Given the description of an element on the screen output the (x, y) to click on. 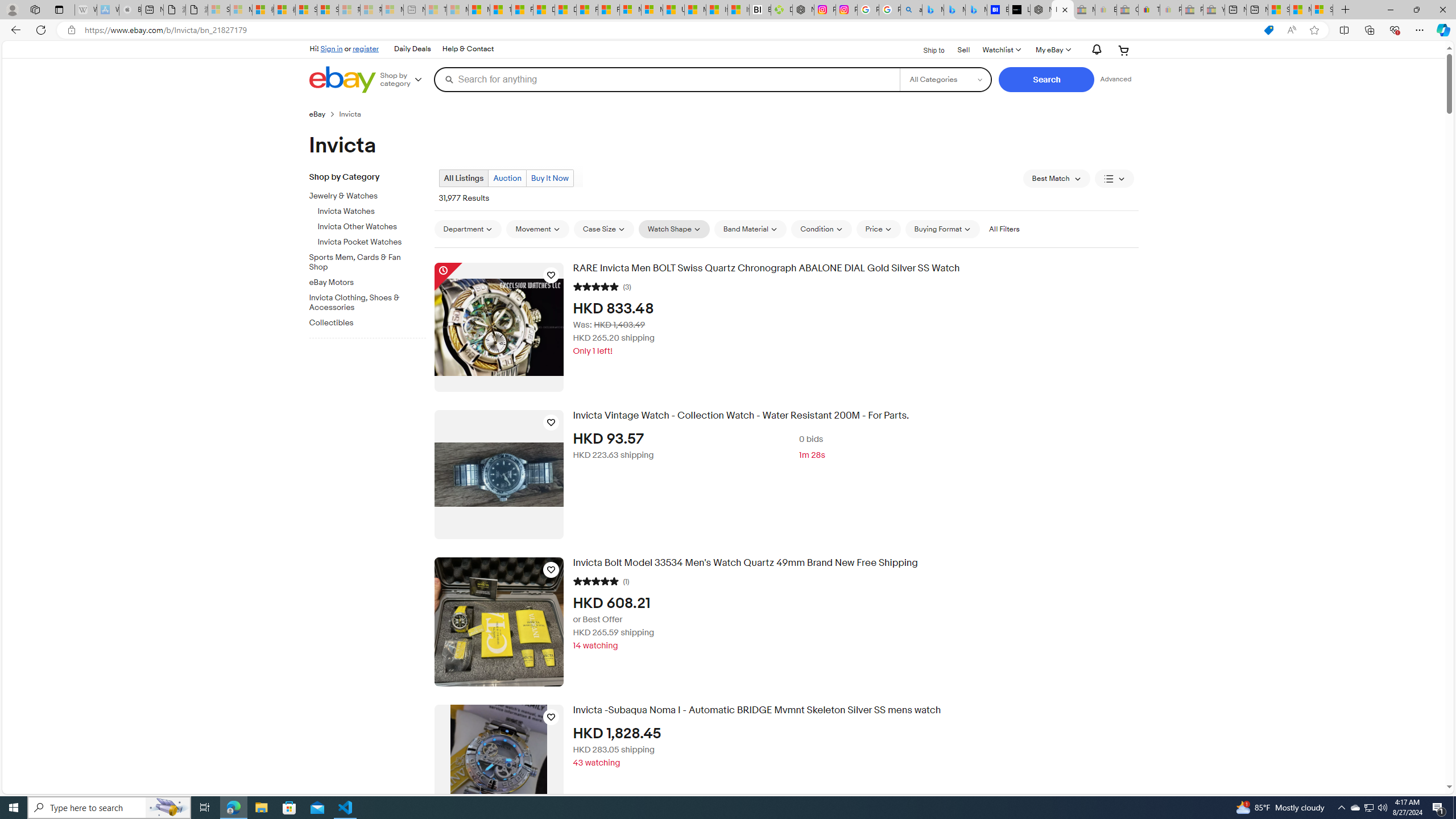
Price (878, 229)
AutomationID: gh-eb-Alerts (1094, 49)
Condition (820, 229)
alabama high school quarterback dies - Search (911, 9)
Invicta Clothing, Shoes & Accessories (371, 300)
Help & Contact (467, 49)
Yard, Garden & Outdoor Living - Sleeping (1214, 9)
Jewelry & Watches (362, 196)
